Given the description of an element on the screen output the (x, y) to click on. 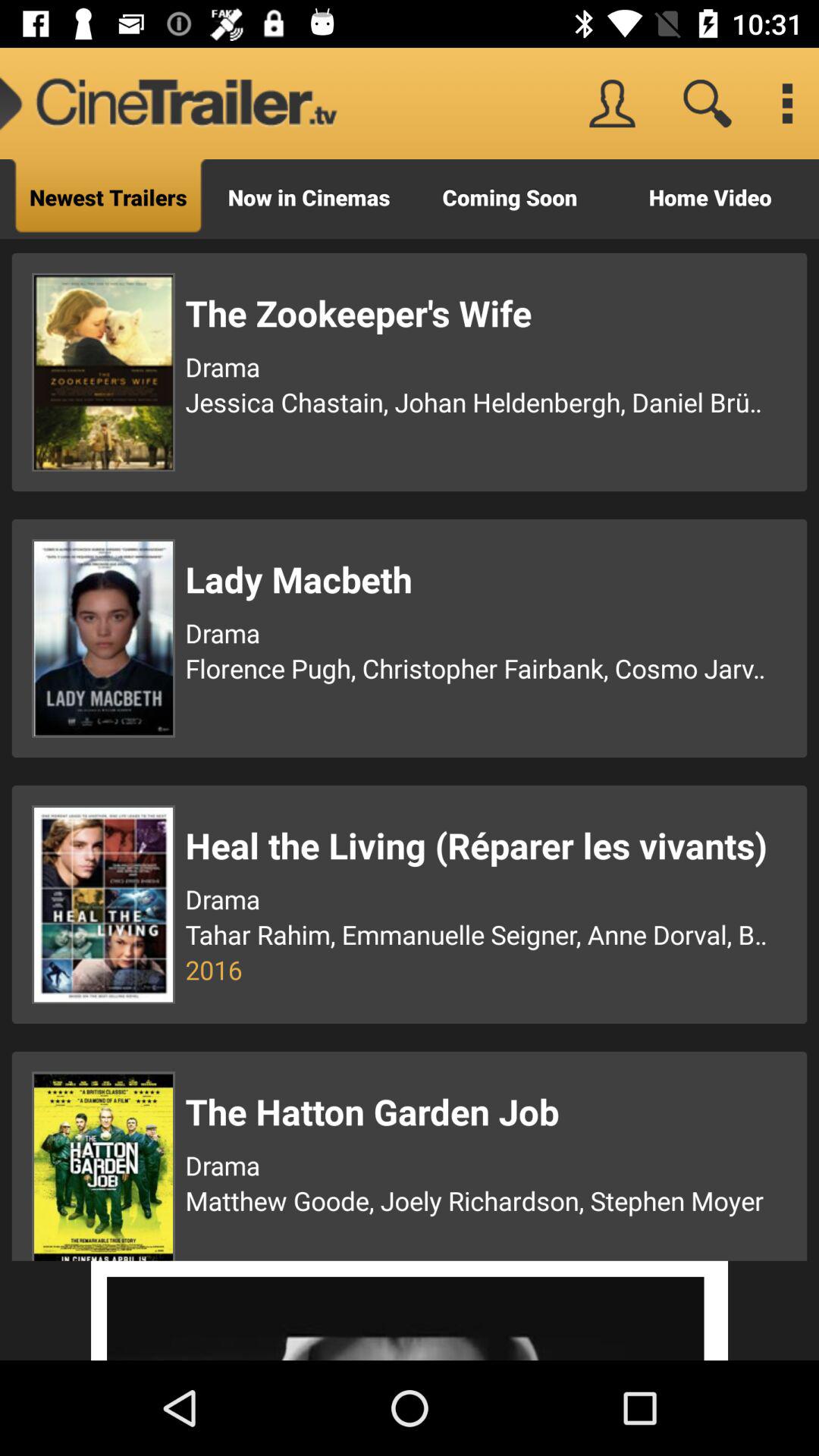
menu/ options/ settings (787, 103)
